Given the description of an element on the screen output the (x, y) to click on. 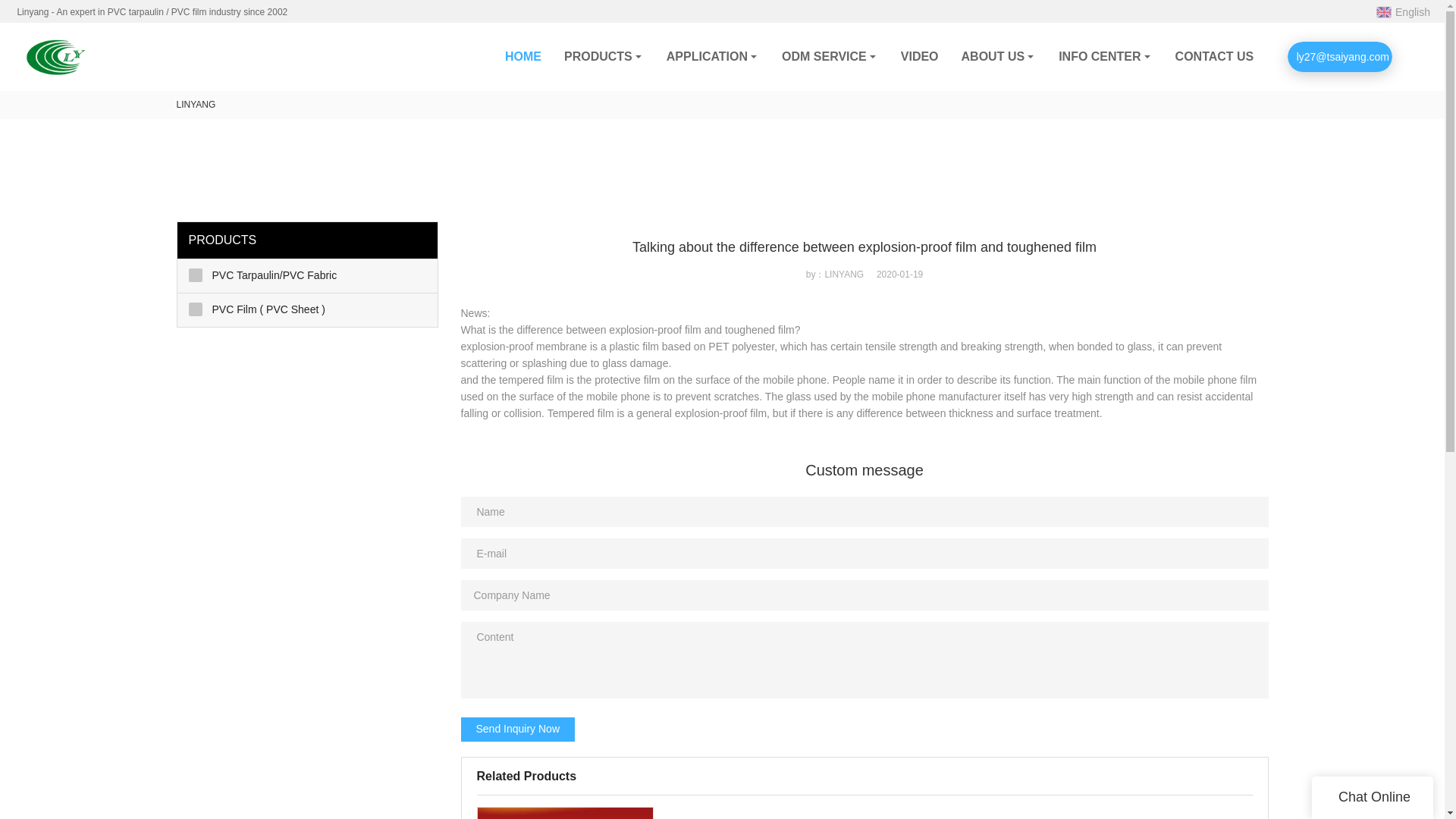
PRODUCTS (604, 56)
INFO CENTER (1104, 56)
ODM SERVICE (829, 56)
APPLICATION (712, 56)
ABOUT US (999, 56)
